Given the description of an element on the screen output the (x, y) to click on. 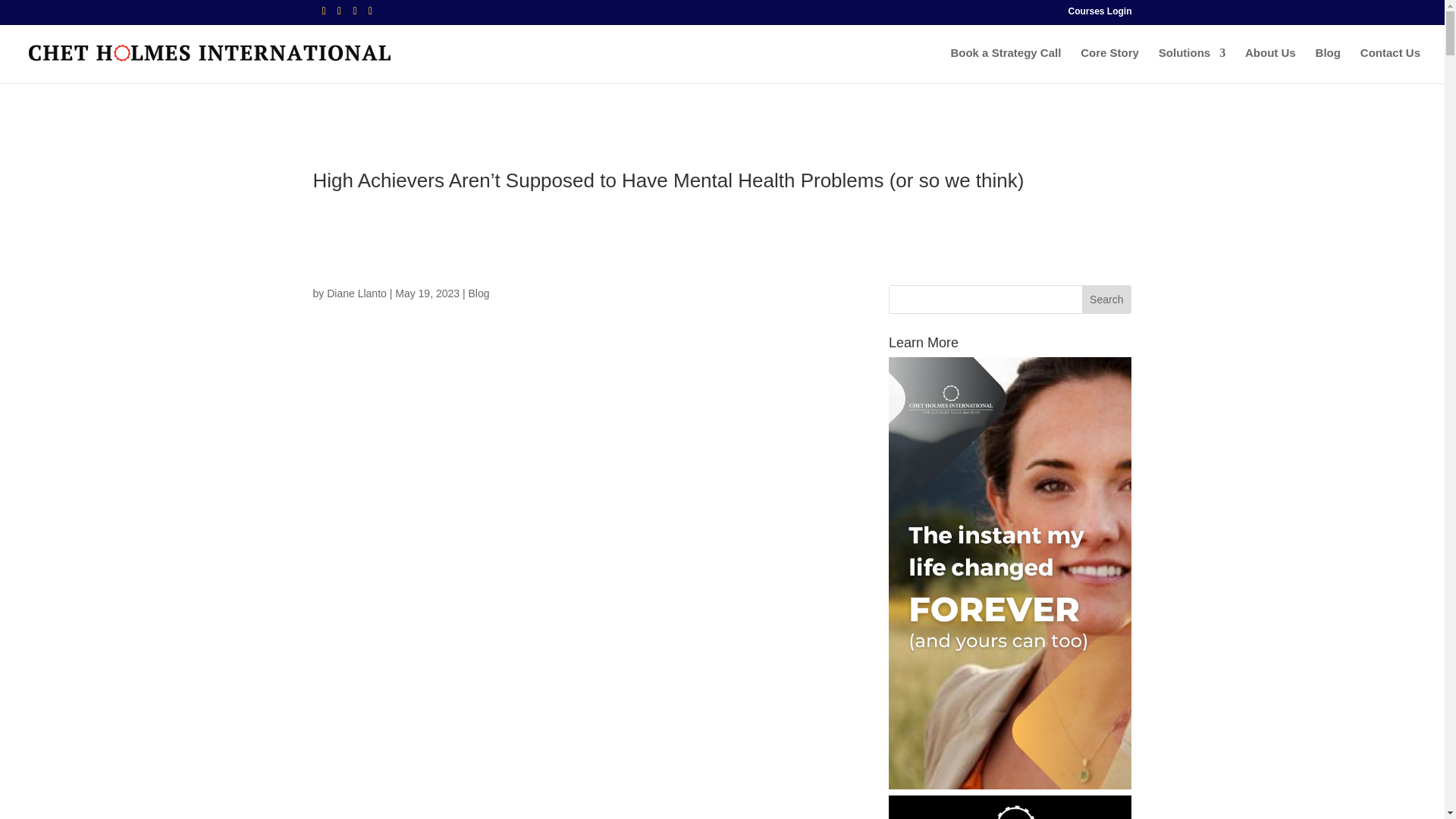
Posts by Diane Llanto (356, 293)
Courses Login (1099, 14)
Solutions (1191, 65)
advertisement (1009, 807)
Search (1106, 298)
About Us (1269, 65)
Search (1106, 298)
Search (1106, 298)
Blog (478, 293)
Book a Strategy Call (1005, 65)
